Given the description of an element on the screen output the (x, y) to click on. 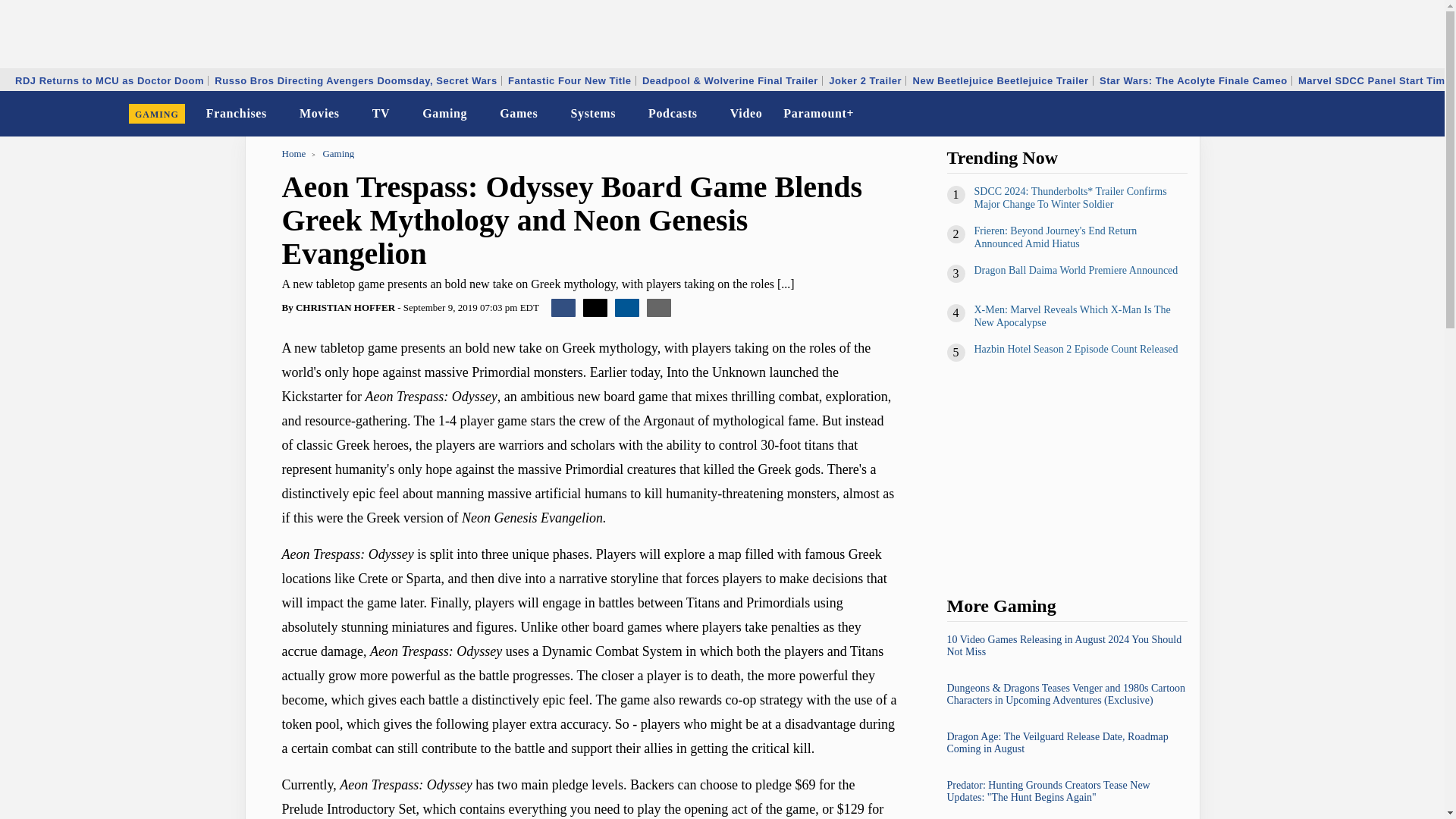
GAMING (157, 113)
Search (1422, 114)
Fantastic Four New Title (568, 80)
Joker 2 Trailer (865, 80)
New Beetlejuice Beetlejuice Trailer (1000, 80)
Star Wars: The Acolyte Finale Cameo (1193, 80)
Russo Bros Directing Avengers Doomsday, Secret Wars (355, 80)
Movies (320, 113)
RDJ Returns to MCU as Doctor Doom (109, 80)
Dark Mode (1394, 113)
